Given the description of an element on the screen output the (x, y) to click on. 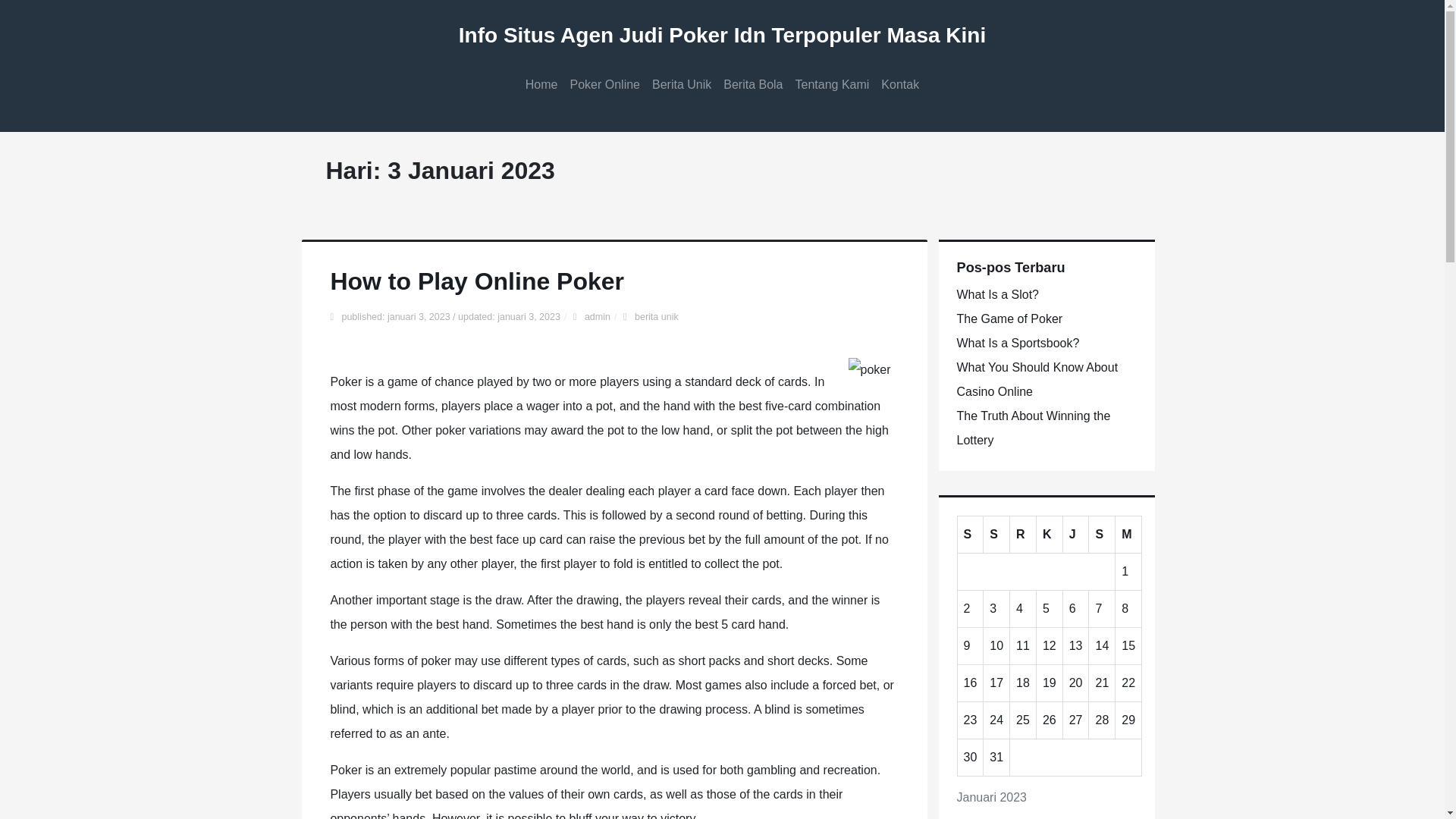
Kontak (899, 84)
The Game of Poker (1009, 318)
Poker Online (605, 84)
The Truth About Winning the Lottery (1033, 427)
berita unik (656, 317)
11 (1022, 645)
Home (541, 84)
Tentang Kami (832, 84)
Home (541, 84)
17 (996, 682)
